Given the description of an element on the screen output the (x, y) to click on. 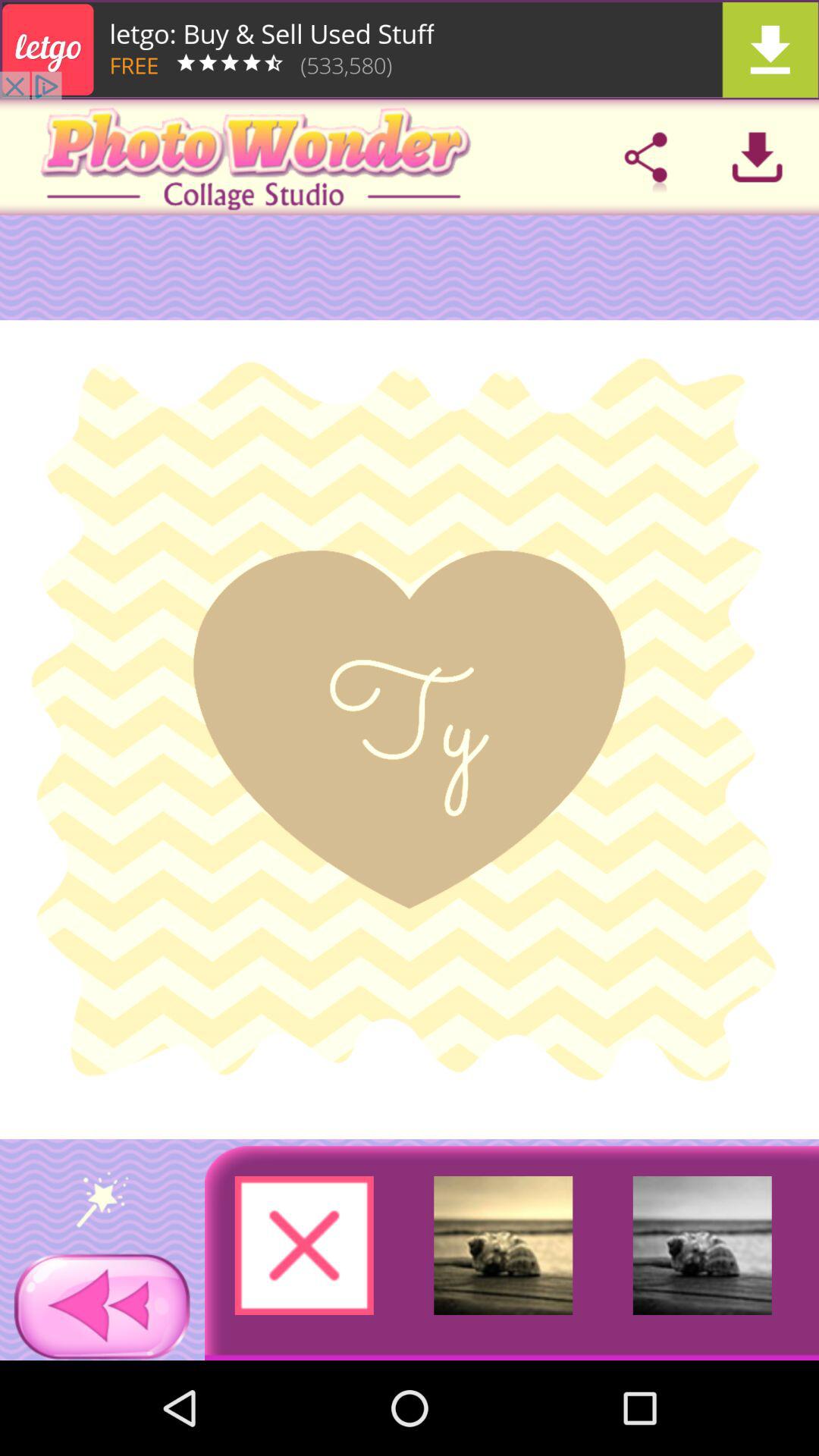
to apply effects (102, 1198)
